Given the description of an element on the screen output the (x, y) to click on. 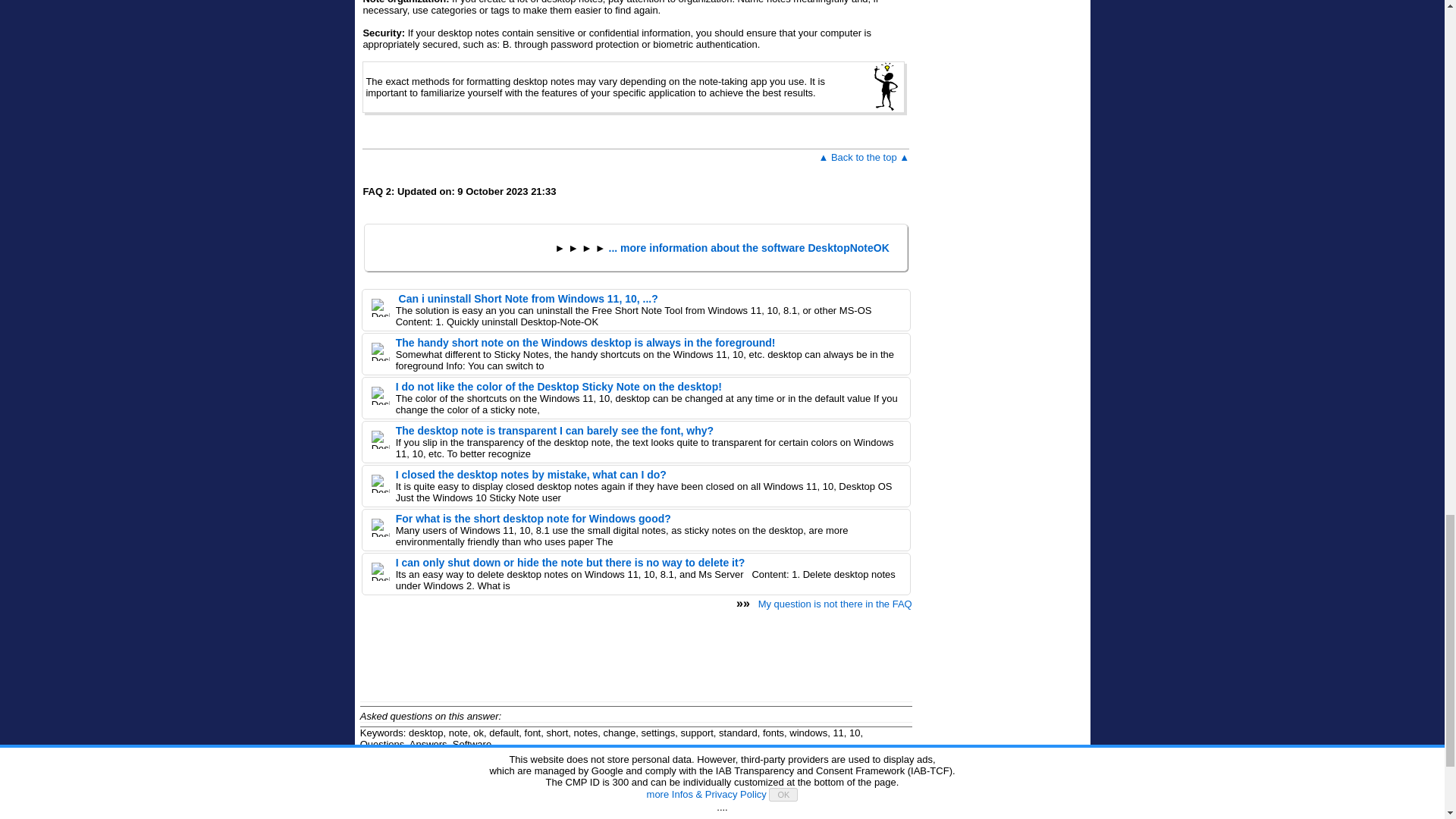
Tips for Windows 11 (665, 801)
... more information about the software DesktopNoteOK (748, 247)
For what is the short desktop note for Windows good? (533, 518)
I closed the desktop notes by mistake, what can I do? (531, 474)
 Can i uninstall Short Note from Windows 11, 10, ...? (527, 298)
Tips for Windows 10 (733, 801)
